Given the description of an element on the screen output the (x, y) to click on. 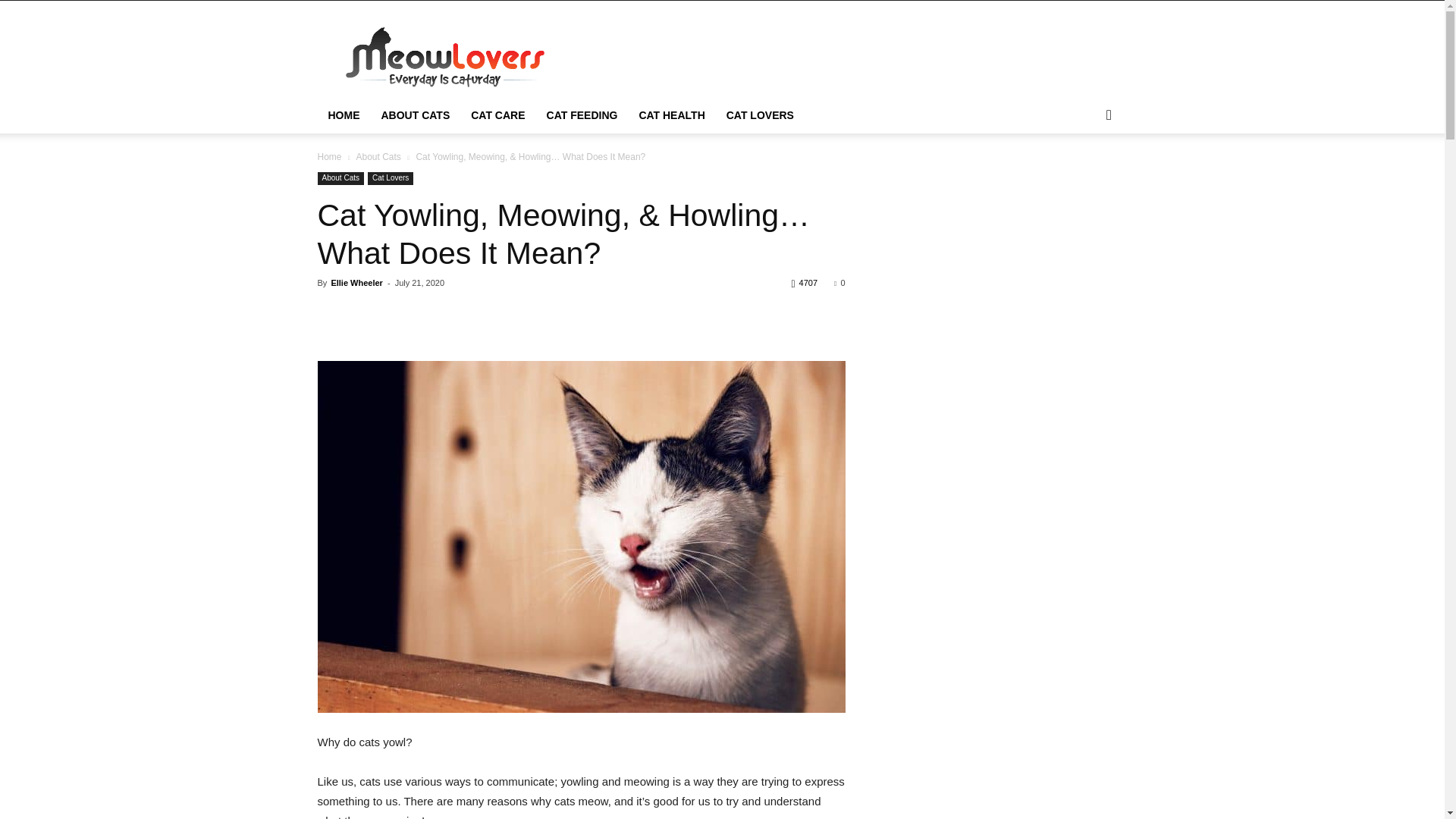
CAT HEALTH (670, 115)
CAT LOVERS (760, 115)
CAT FEEDING (581, 115)
ABOUT CATS (414, 115)
0 (839, 282)
About Cats (339, 178)
Cat Lovers (390, 178)
CAT CARE (497, 115)
HOME (343, 115)
View all posts in About Cats (377, 156)
About Cats (377, 156)
Home (328, 156)
Ellie Wheeler (355, 282)
Search (1085, 175)
